Given the description of an element on the screen output the (x, y) to click on. 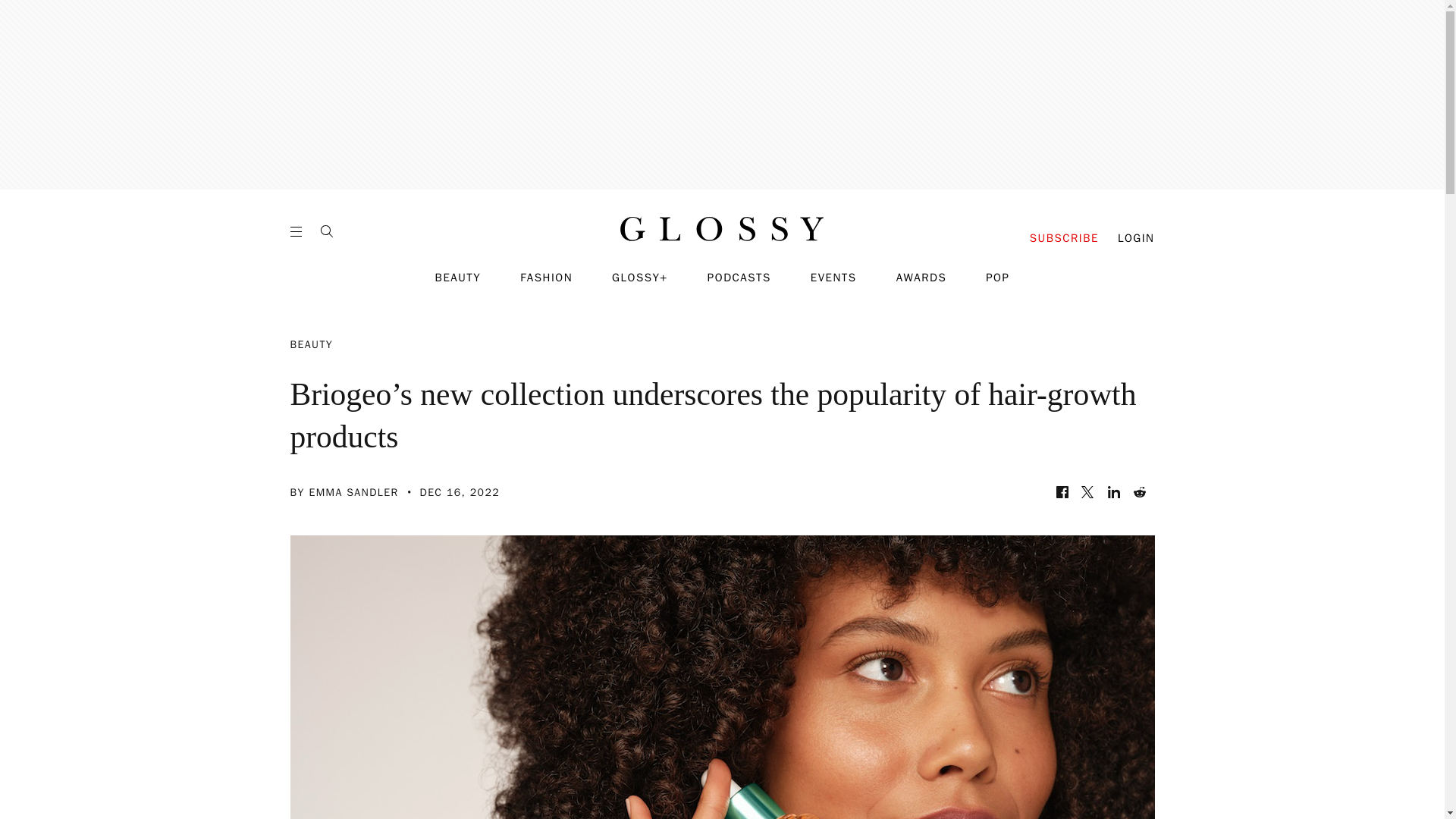
SUBSCRIBE (1064, 238)
PODCASTS (739, 277)
AWARDS (921, 277)
FASHION (545, 277)
EVENTS (833, 277)
LOGIN (1136, 238)
POP (997, 277)
BEAUTY (458, 277)
